Given the description of an element on the screen output the (x, y) to click on. 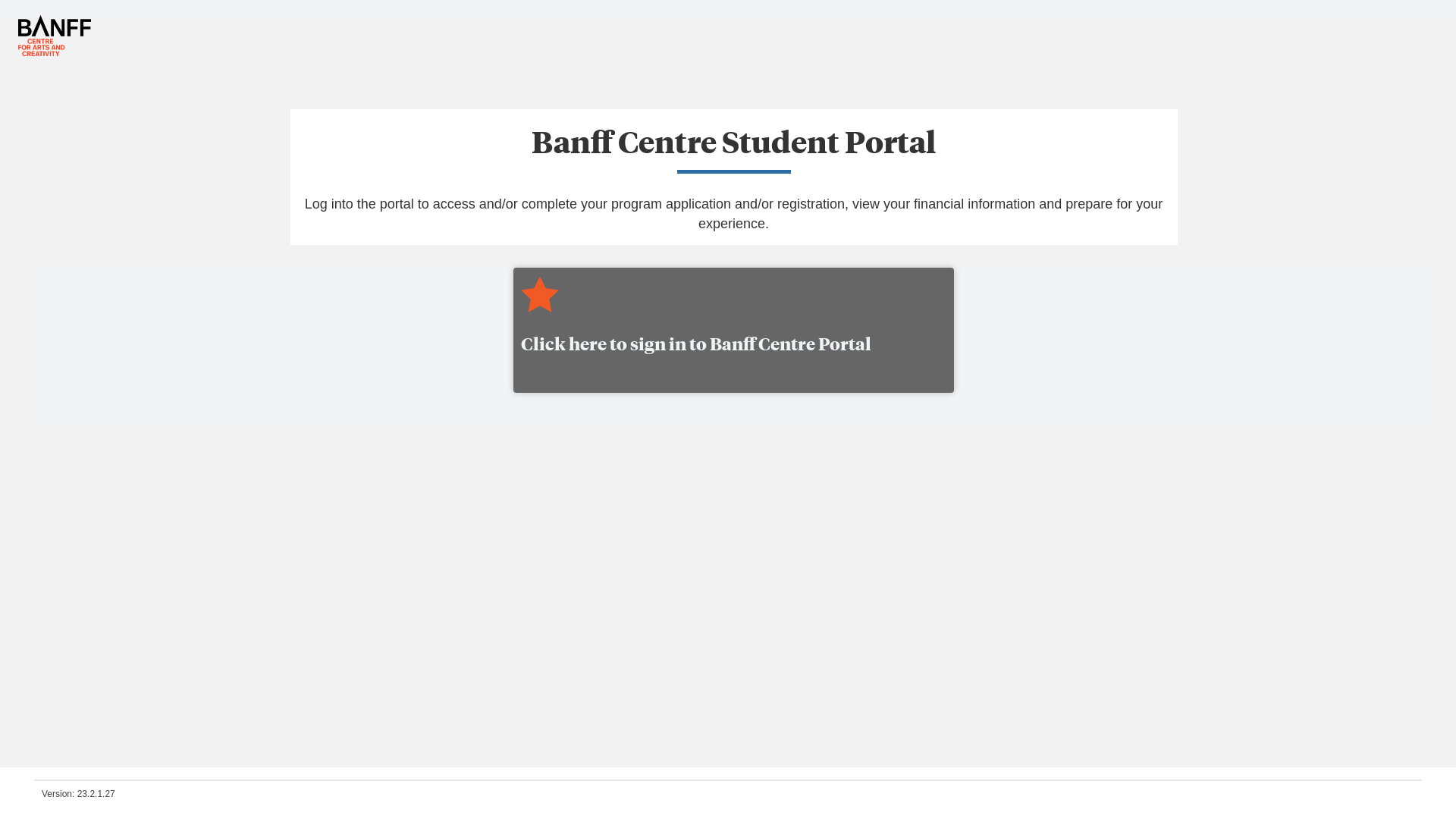
Click here to sign in to Banff Centre Portal Element type: text (733, 314)
